Given the description of an element on the screen output the (x, y) to click on. 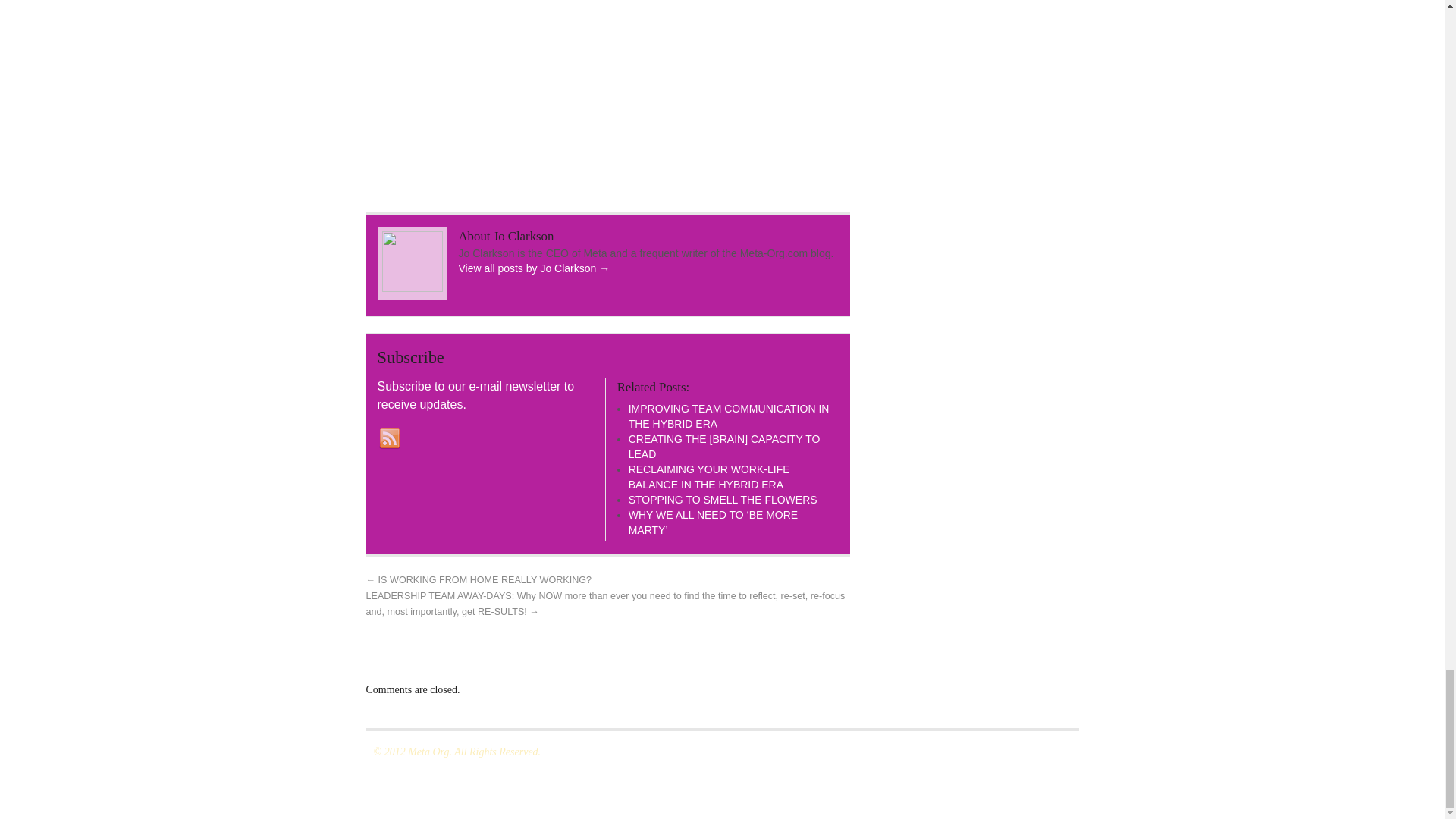
STOPPING TO SMELL THE FLOWERS (722, 499)
IMPROVING TEAM COMMUNICATION IN THE HYBRID ERA (728, 415)
RECLAIMING YOUR WORK-LIFE BALANCE IN THE HYBRID ERA (709, 475)
Subscribe to our RSS feed (389, 437)
RECLAIMING YOUR WORK-LIFE BALANCE IN THE HYBRID ERA (709, 475)
IMPROVING TEAM COMMUNICATION IN THE HYBRID ERA (728, 415)
STOPPING TO SMELL THE FLOWERS (722, 499)
